Given the description of an element on the screen output the (x, y) to click on. 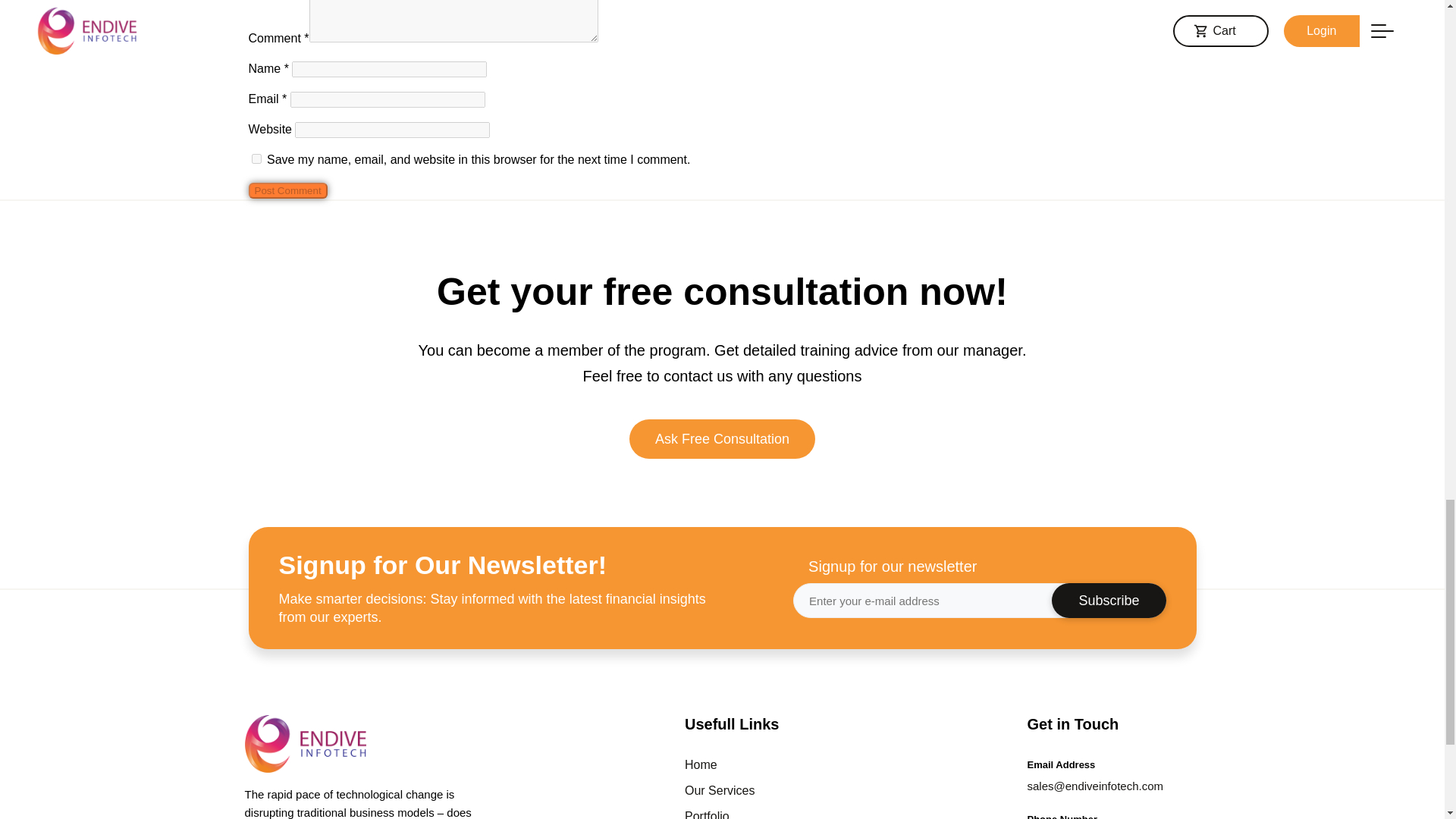
Post Comment (287, 190)
yes (256, 158)
Subscribe (1108, 600)
